Given the description of an element on the screen output the (x, y) to click on. 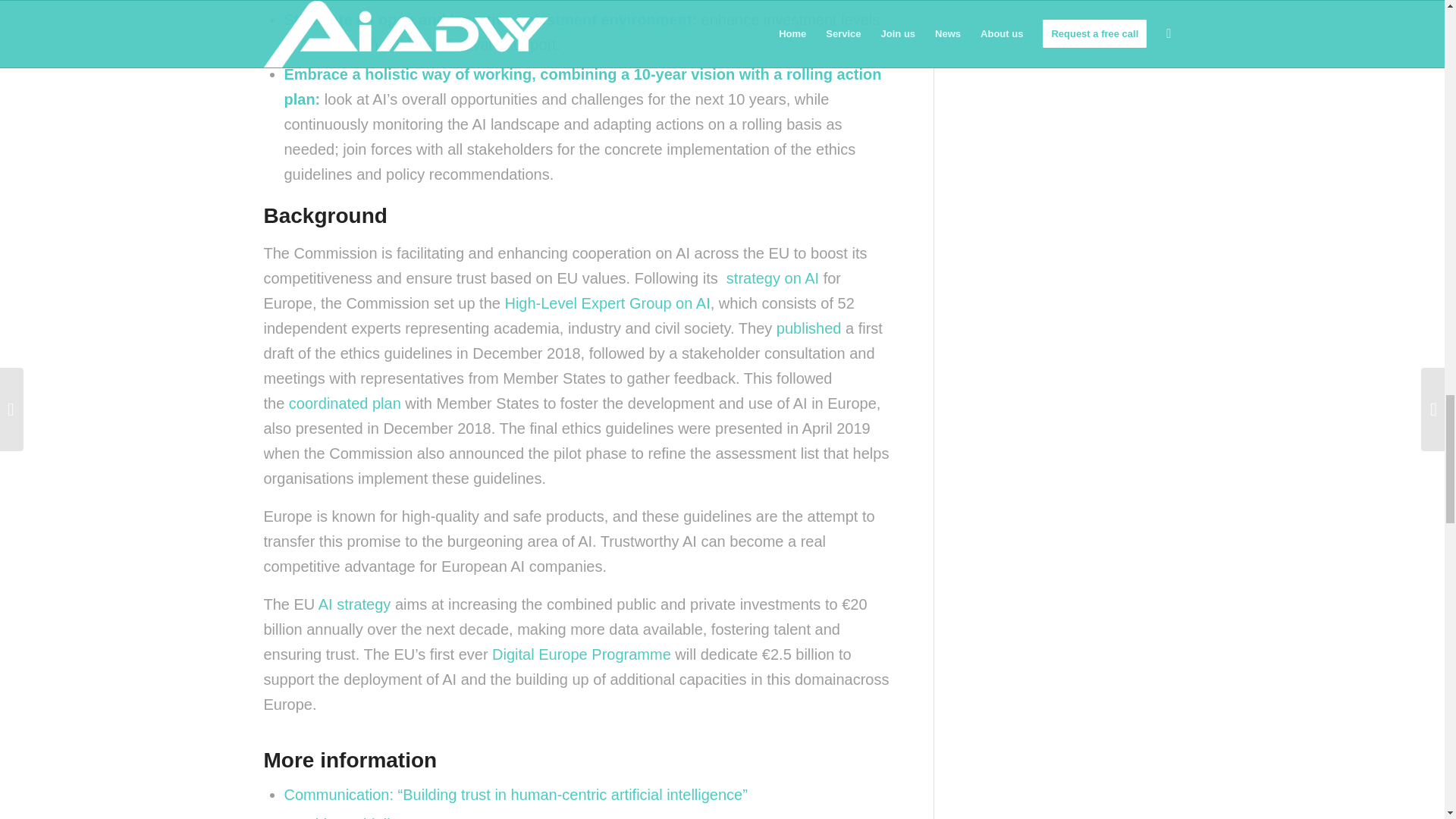
High-Level Expert Group on AI (606, 303)
AI strategy (354, 604)
coordinated plan (344, 402)
published (808, 328)
Digital Europe Programme (581, 654)
AI ethics guidelines (348, 817)
 strategy on AI (770, 278)
